Given the description of an element on the screen output the (x, y) to click on. 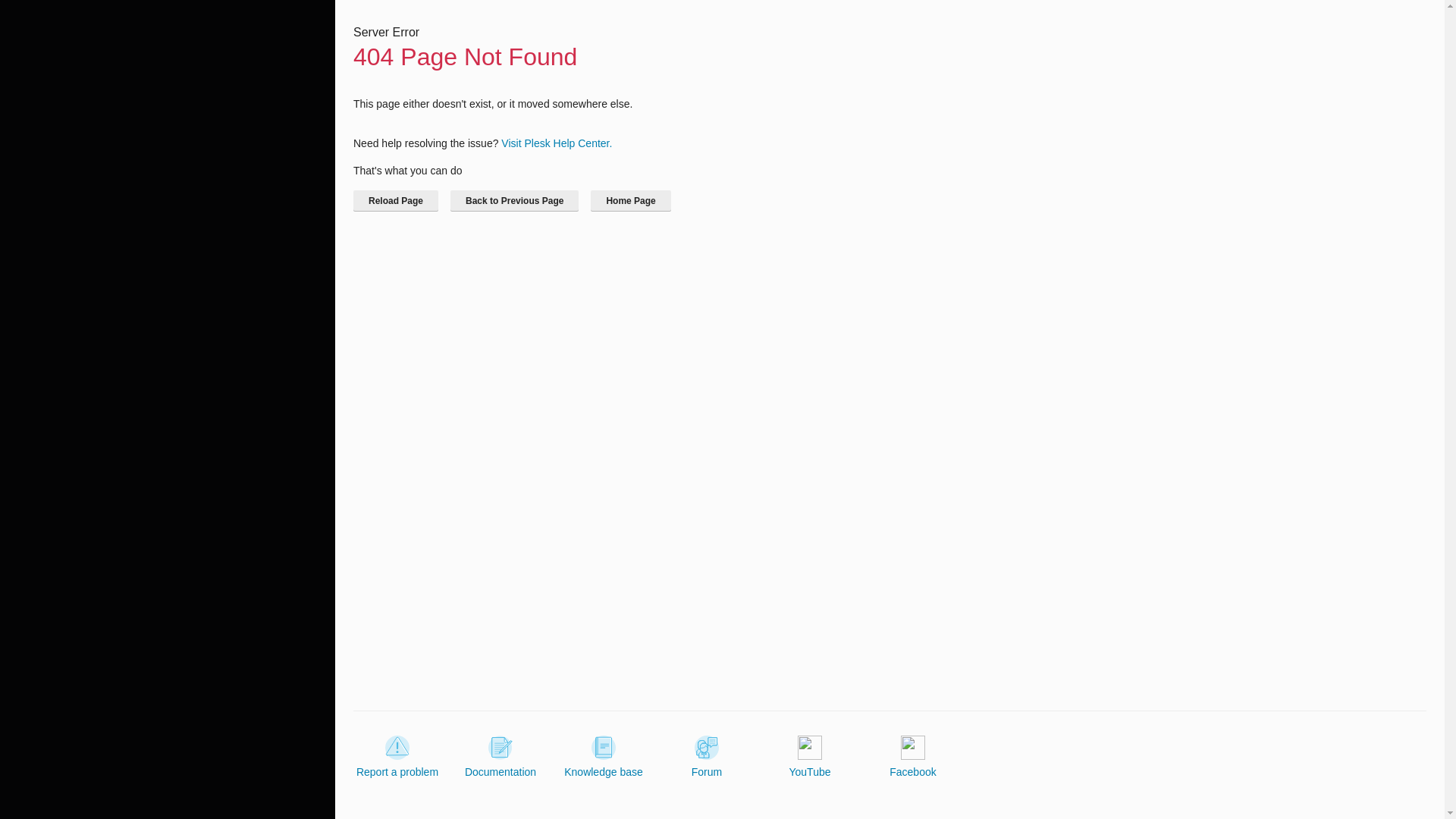
Report a problem (397, 757)
Home Page (630, 200)
YouTube (809, 757)
Visit Plesk Help Center. (555, 143)
Reload Page (395, 200)
Facebook (912, 757)
Forum (706, 757)
Back to Previous Page (513, 200)
Documentation (500, 757)
Knowledge base (603, 757)
